Given the description of an element on the screen output the (x, y) to click on. 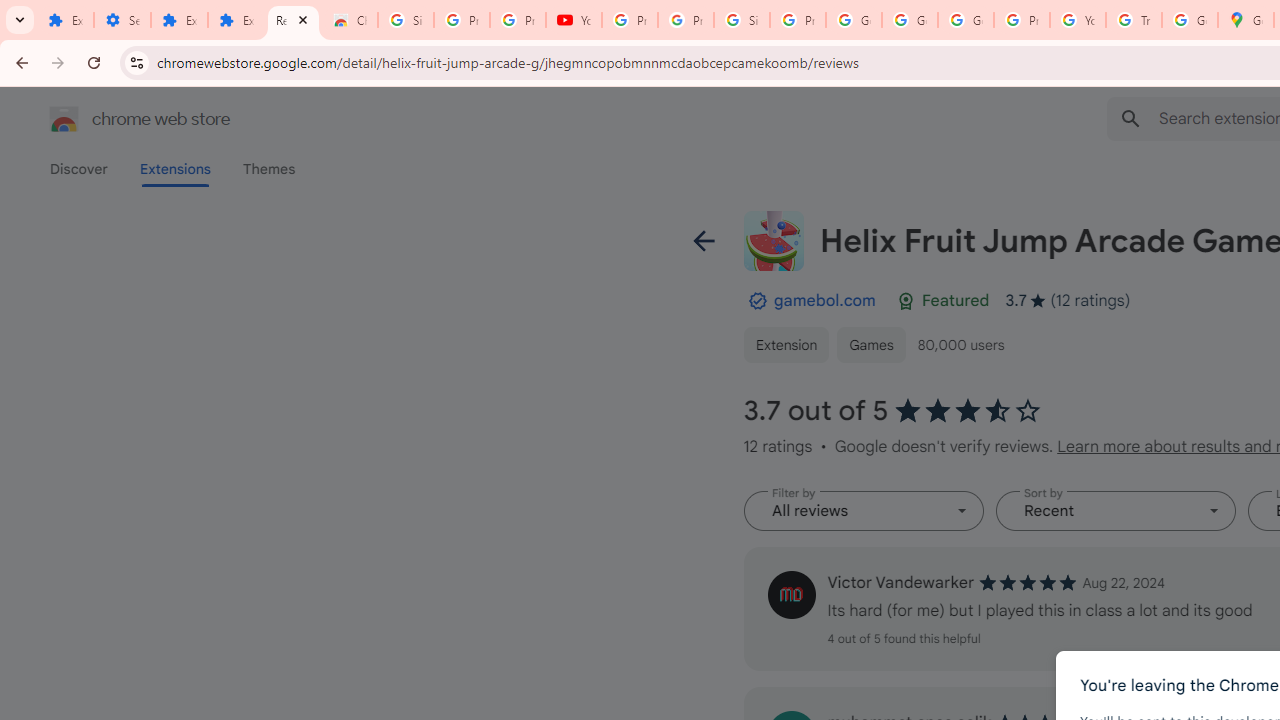
Extensions (235, 20)
Chrome Web Store - Themes (349, 20)
Google Account (853, 20)
Extensions (65, 20)
Extensions (179, 20)
YouTube (573, 20)
Reviews: Helix Fruit Jump Arcade Game (293, 20)
Google Account (909, 20)
